Given the description of an element on the screen output the (x, y) to click on. 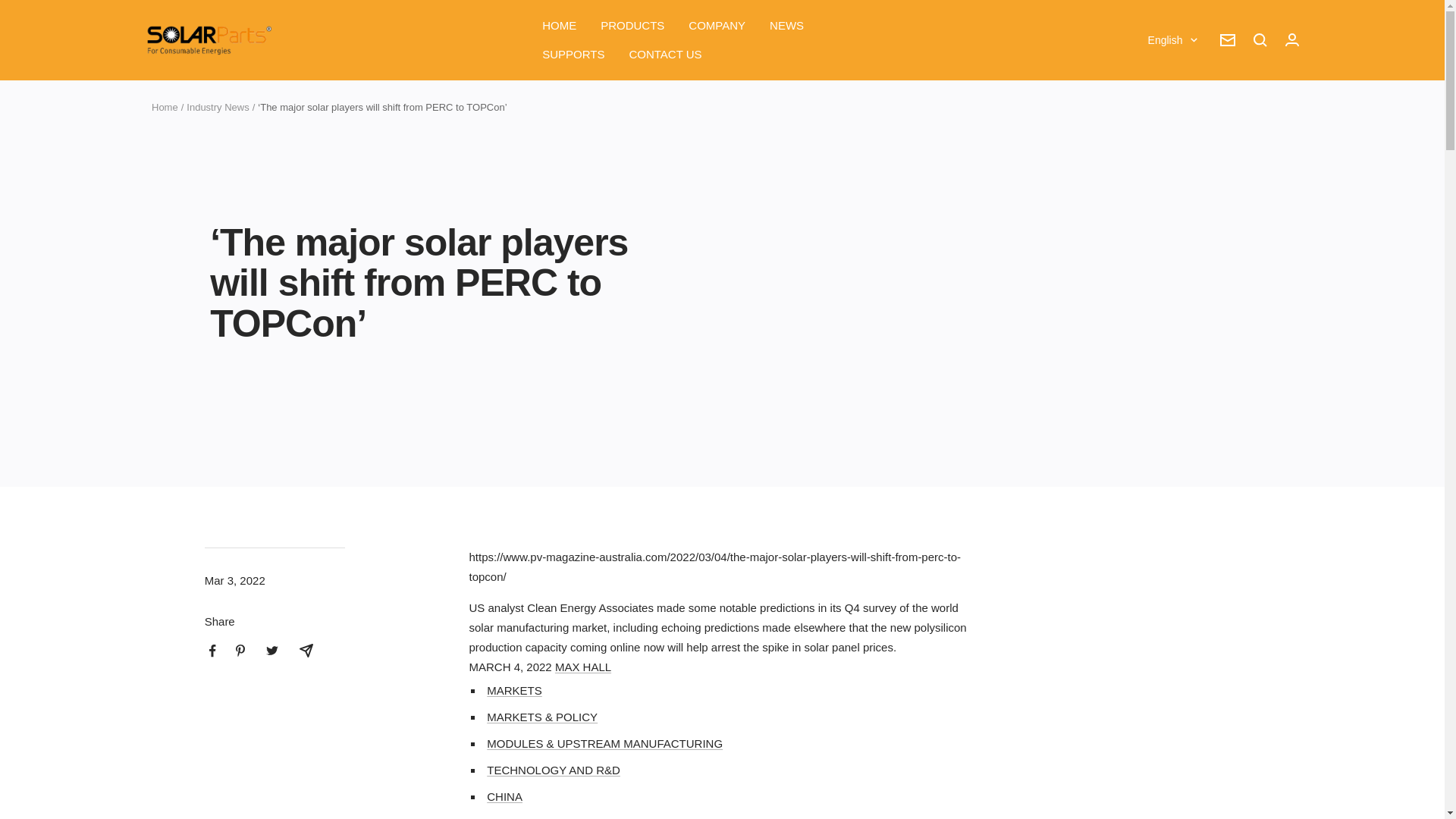
de (1162, 117)
NEWS (786, 25)
Industry News (217, 107)
English (1172, 40)
en (1162, 92)
it (1162, 217)
SUPPORTS (572, 54)
Home (164, 107)
fr (1162, 142)
CONTACT US (664, 54)
